Given the description of an element on the screen output the (x, y) to click on. 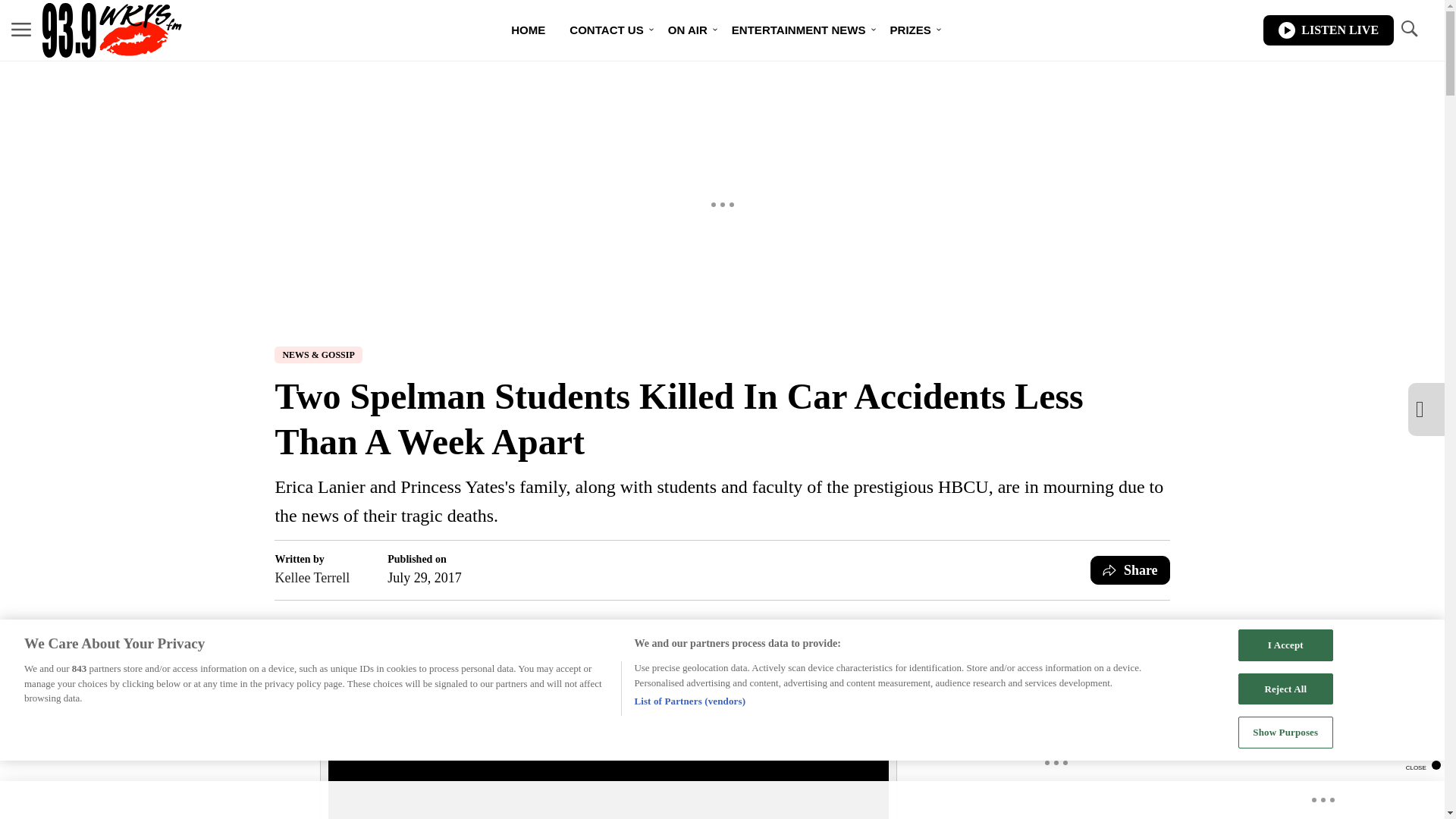
PRIZES (910, 30)
Kellee Terrell (312, 577)
MENU (20, 30)
CONTACT US (606, 30)
HOME (528, 30)
Share (1130, 570)
ENTERTAINMENT NEWS (798, 30)
TOGGLE SEARCH (1408, 30)
MENU (20, 29)
ON AIR (687, 30)
LISTEN LIVE (1328, 30)
TOGGLE SEARCH (1408, 28)
